Given the description of an element on the screen output the (x, y) to click on. 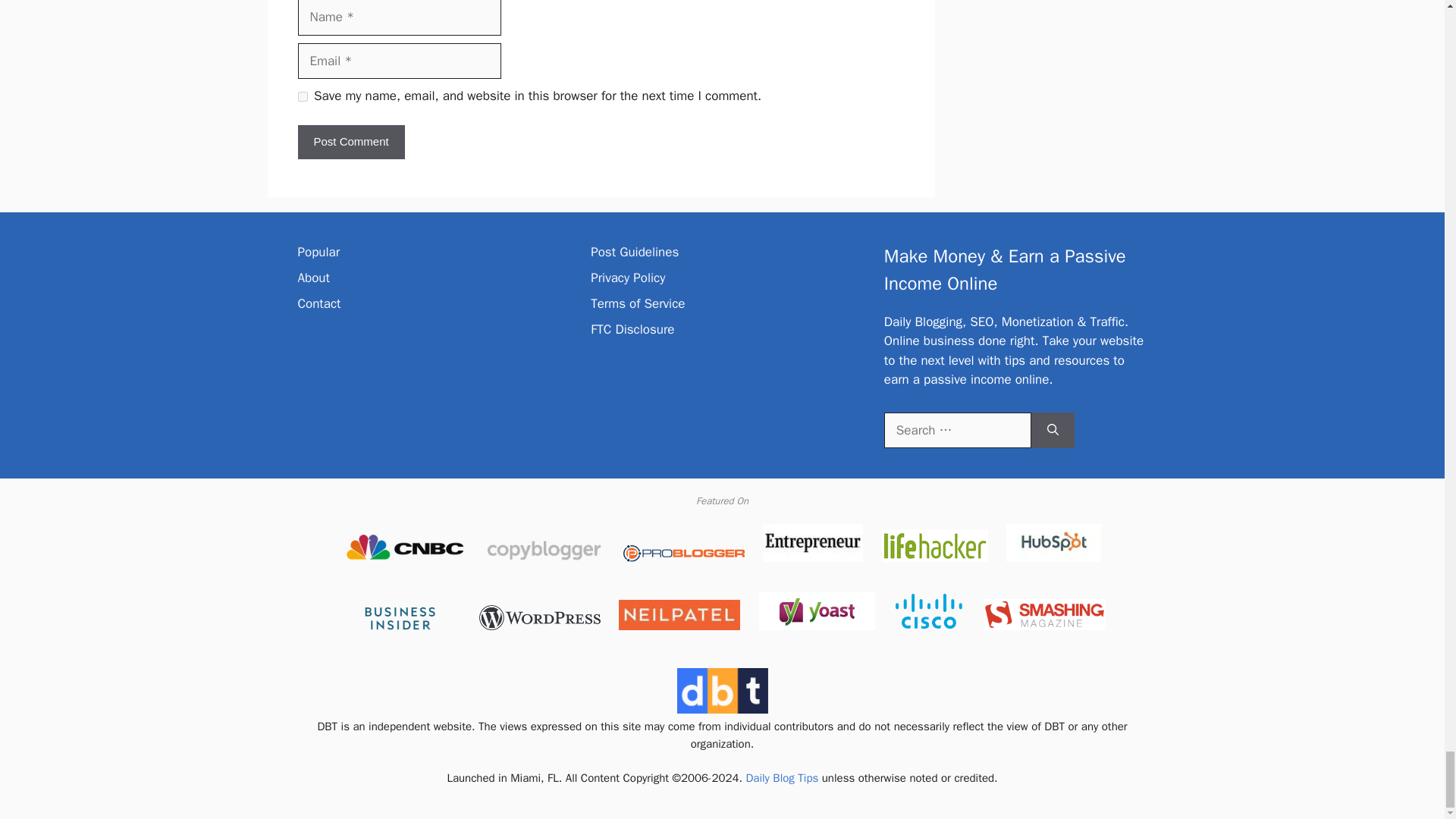
yes (302, 96)
Post Comment (350, 141)
